Given the description of an element on the screen output the (x, y) to click on. 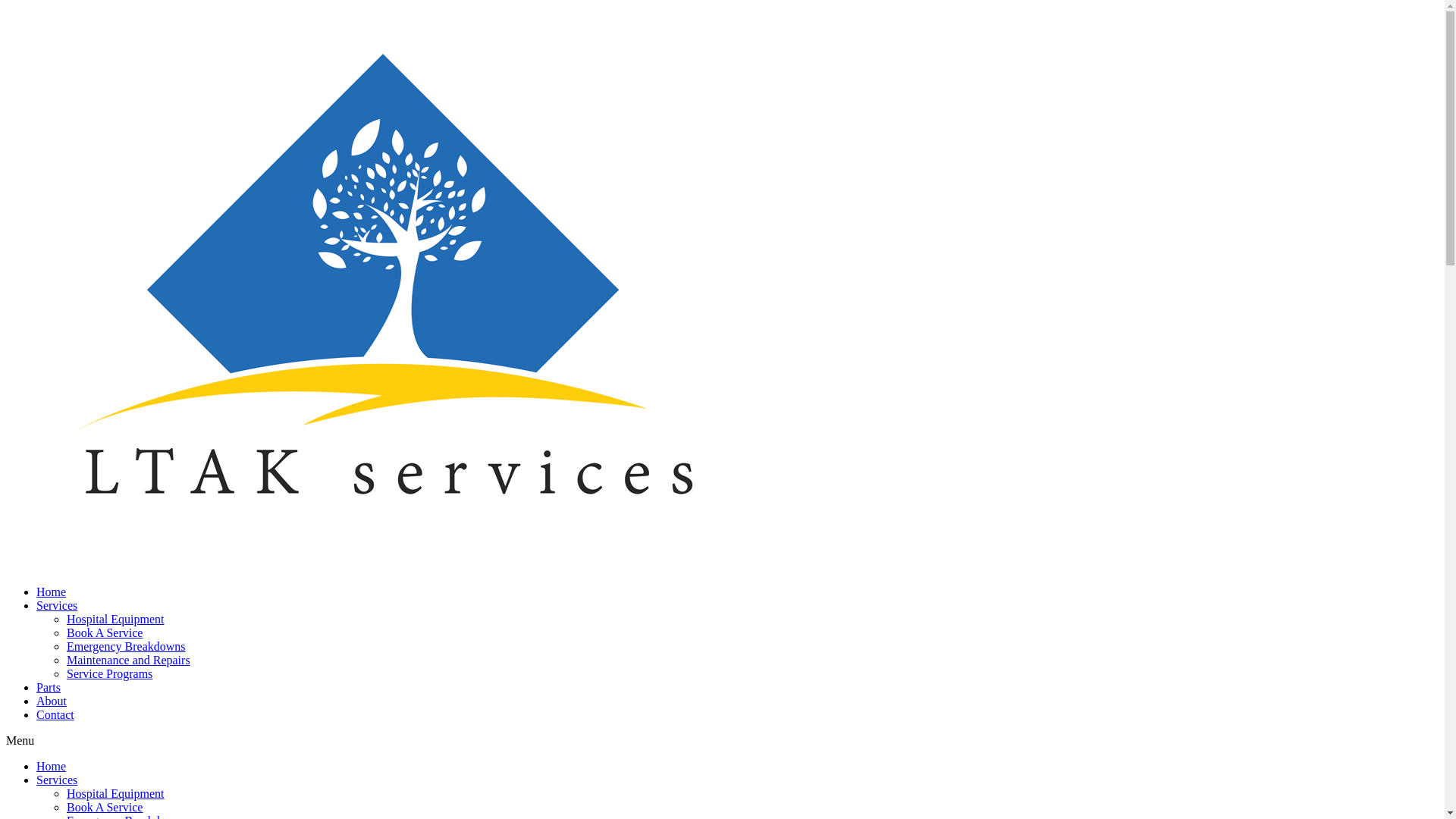
Book A Service Element type: text (104, 632)
Contact Element type: text (55, 714)
Home Element type: text (50, 591)
Service Programs Element type: text (109, 673)
About Element type: text (51, 700)
Maintenance and Repairs Element type: text (128, 659)
Emergency Breakdowns Element type: text (125, 646)
Book A Service Element type: text (104, 806)
Hospital Equipment Element type: text (114, 793)
Parts Element type: text (48, 686)
Skip to content Element type: text (5, 5)
Services Element type: text (56, 779)
Services Element type: text (56, 605)
Home Element type: text (50, 765)
Hospital Equipment Element type: text (114, 618)
